Given the description of an element on the screen output the (x, y) to click on. 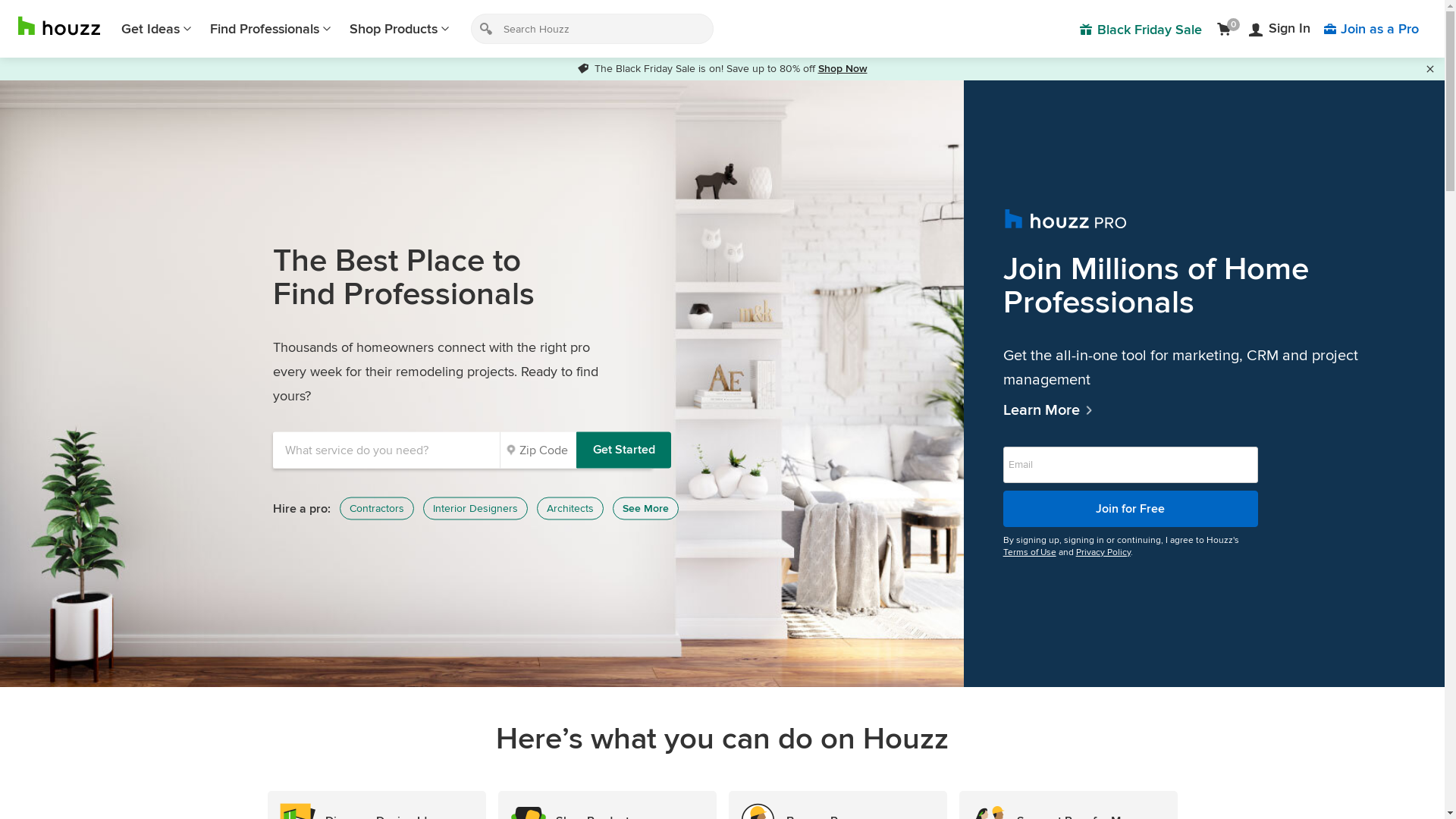
Get Ideas Element type: text (156, 28)
Learn More Element type: text (1204, 409)
Get Started Element type: text (623, 450)
0 Element type: text (1226, 28)
Terms of Use Element type: text (1029, 551)
Shop Now Element type: text (841, 68)
Join as a Pro Element type: text (1371, 27)
Interior Designers Element type: text (475, 508)
Join for Free Element type: text (1130, 507)
Architects Element type: text (569, 508)
Sign In Element type: text (1279, 28)
Privacy Policy Element type: text (1103, 551)
See More Element type: text (645, 508)
The Black Friday Sale is on! Save up to 80% off  Element type: text (697, 68)
Shop Products Element type: text (399, 28)
Find Professionals Element type: text (270, 28)
Black Friday Sale Element type: text (1140, 28)
Contractors Element type: text (376, 508)
